Given the description of an element on the screen output the (x, y) to click on. 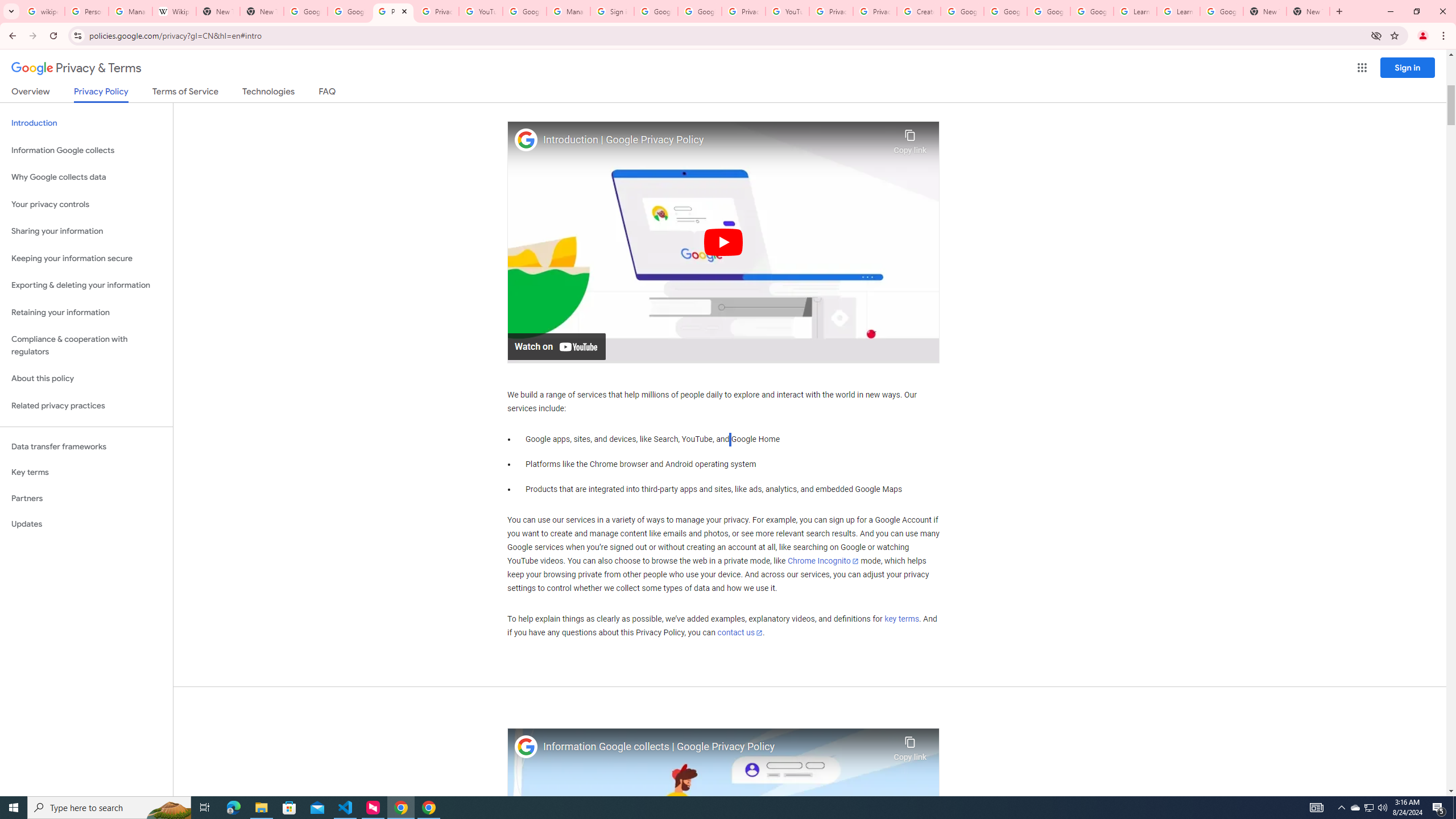
Play (723, 241)
Key terms (86, 472)
Keeping your information secure (86, 258)
Copy link (909, 745)
Wikipedia:Edit requests - Wikipedia (173, 11)
Compliance & cooperation with regulators (86, 345)
Exporting & deleting your information (86, 284)
Information Google collects | Google Privacy Policy (715, 747)
